Given the description of an element on the screen output the (x, y) to click on. 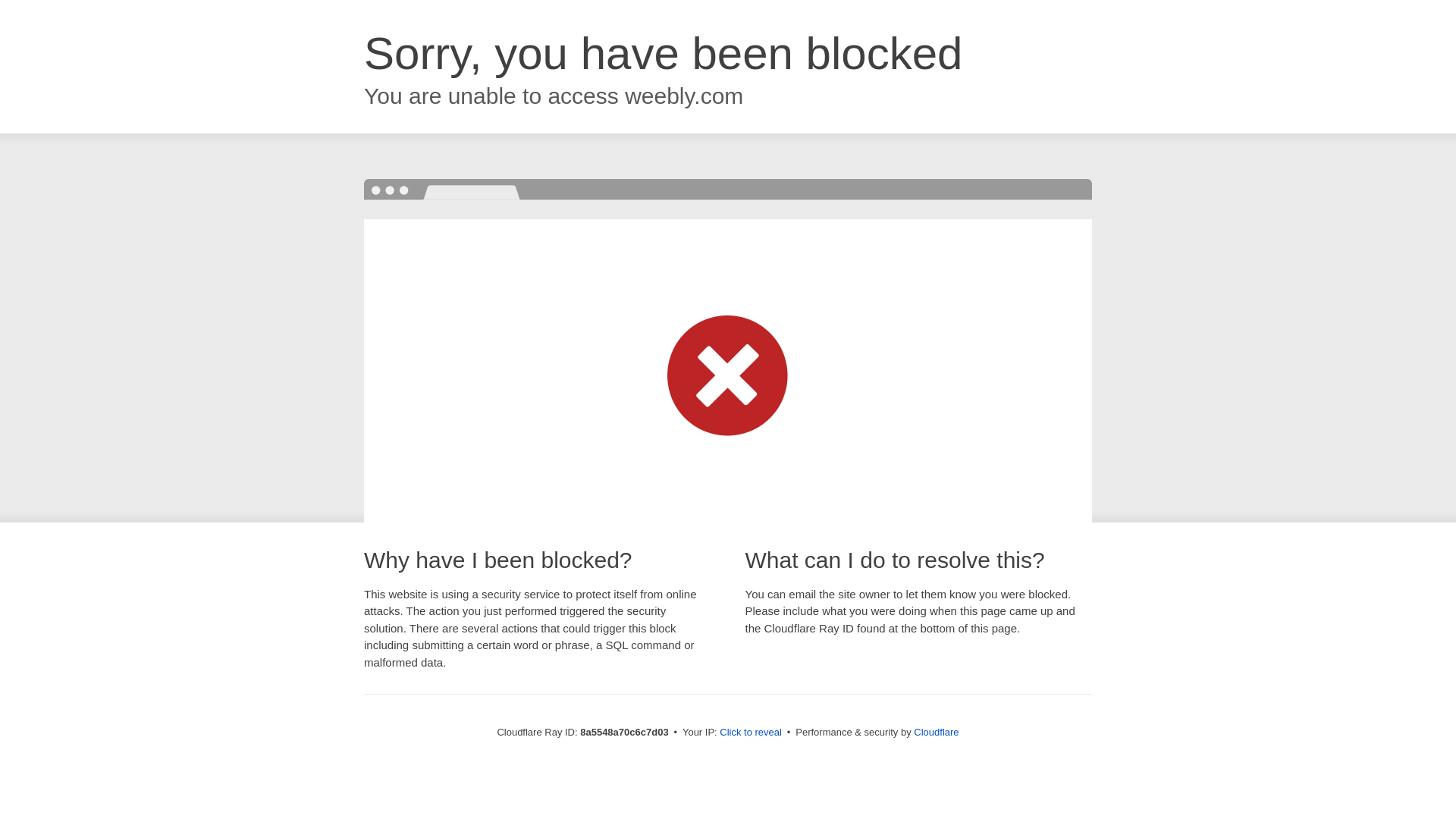
Click to reveal (750, 732)
Cloudflare (936, 731)
